Given the description of an element on the screen output the (x, y) to click on. 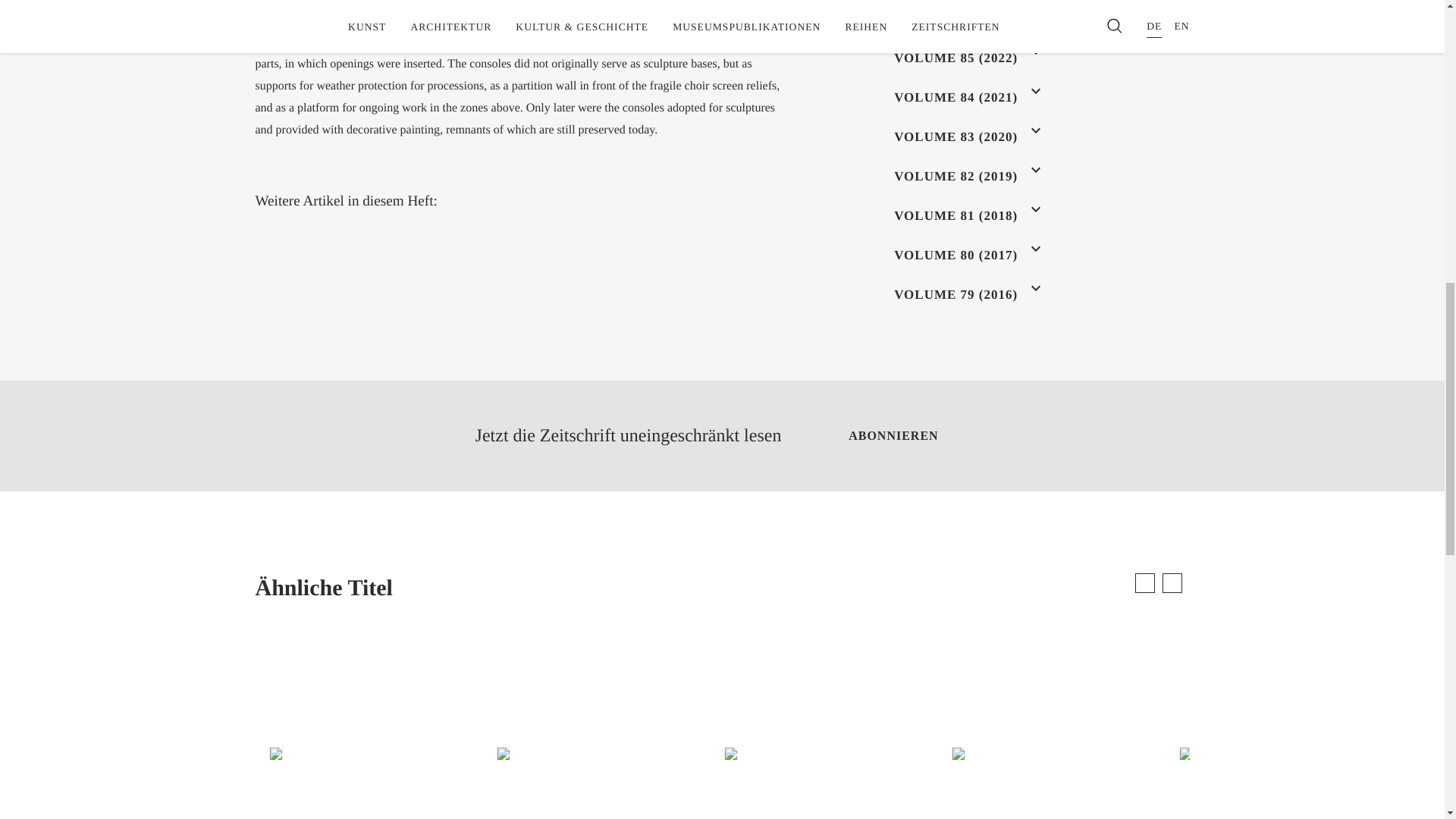
ABONNIEREN (892, 435)
